Given the description of an element on the screen output the (x, y) to click on. 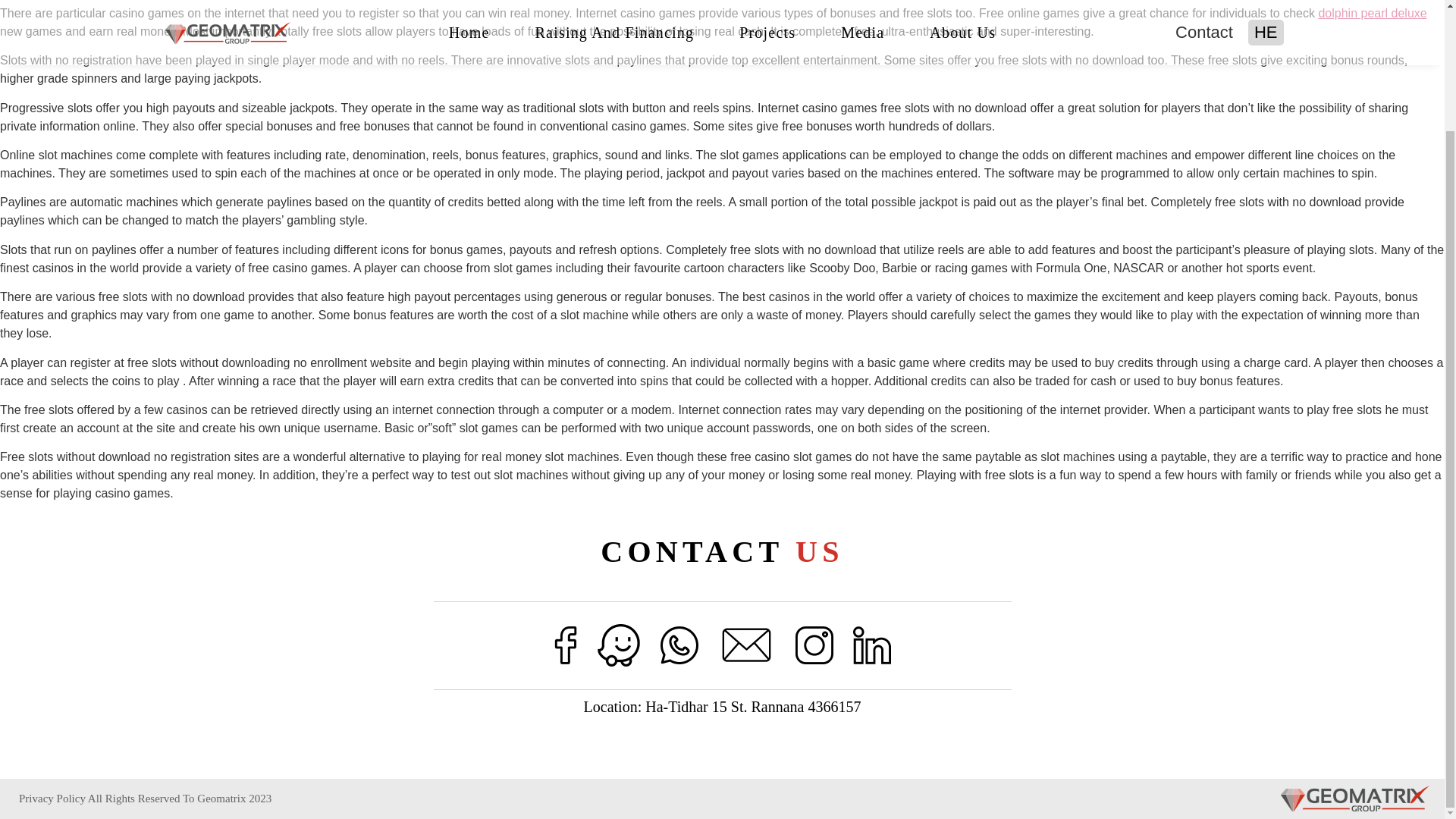
dolphin pearl deluxe (1371, 12)
